Given the description of an element on the screen output the (x, y) to click on. 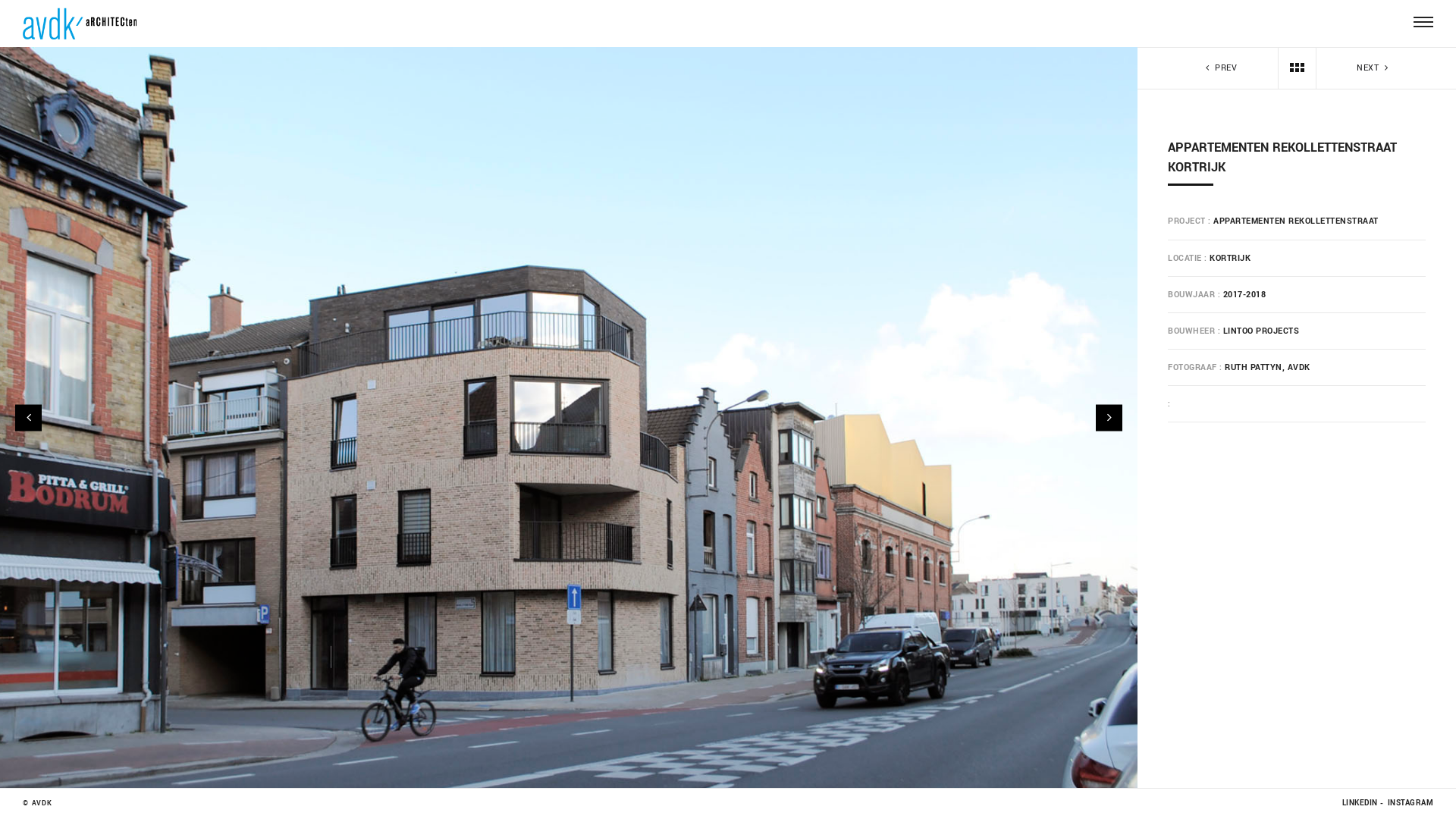
LINKEDIN Element type: text (1359, 803)
INSTAGRAM Element type: text (1410, 803)
NEXT Element type: text (1373, 67)
PREV Element type: text (1219, 67)
